Given the description of an element on the screen output the (x, y) to click on. 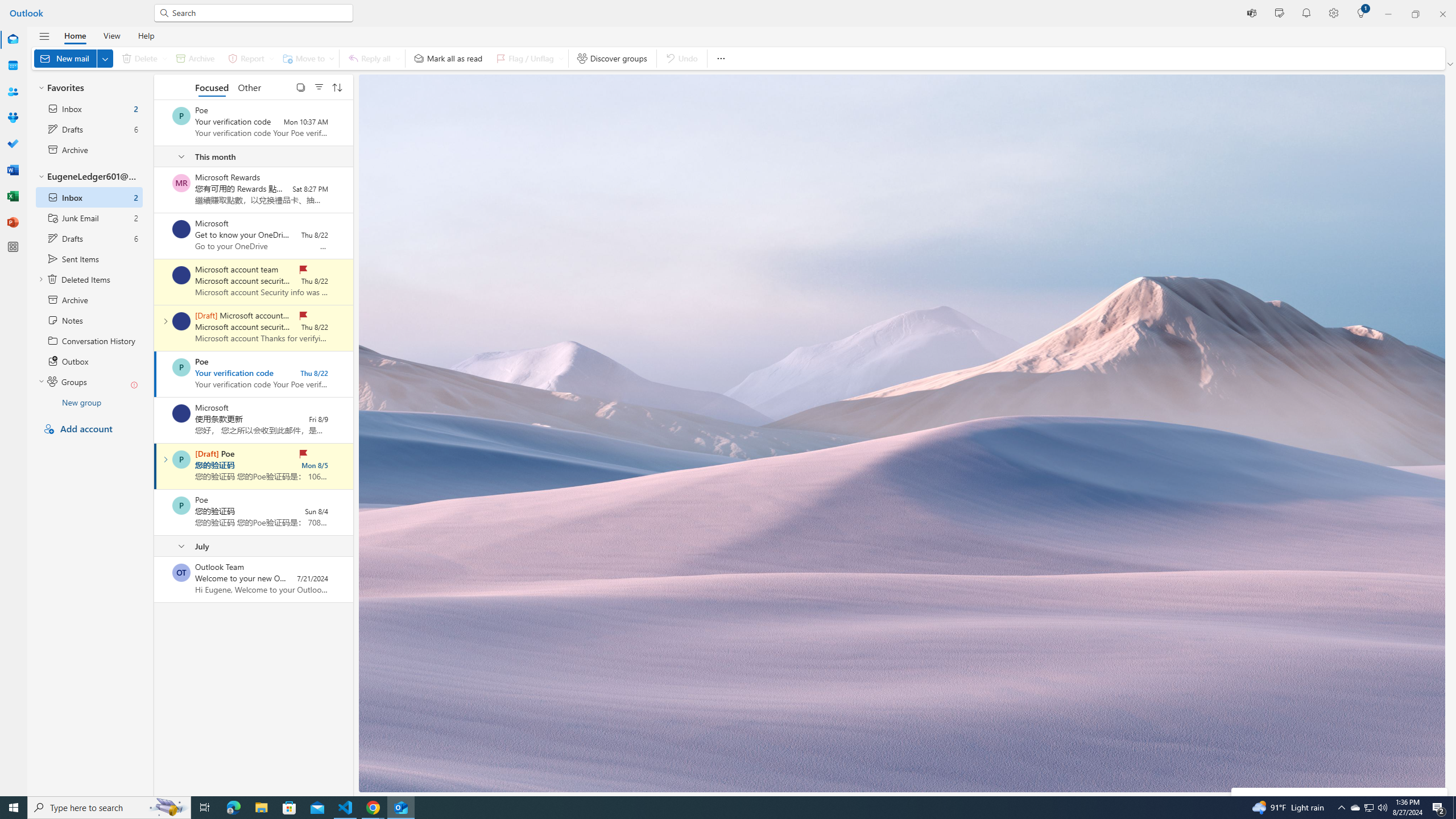
PowerPoint (12, 222)
Sorted: By Date (336, 86)
Groups (12, 118)
Move to (306, 58)
Flag / Unflag (527, 58)
Mark all as read (448, 58)
Excel (12, 196)
Delete (141, 58)
People (12, 92)
People (12, 91)
Reply all (372, 58)
Ribbon display options (1450, 63)
